Given the description of an element on the screen output the (x, y) to click on. 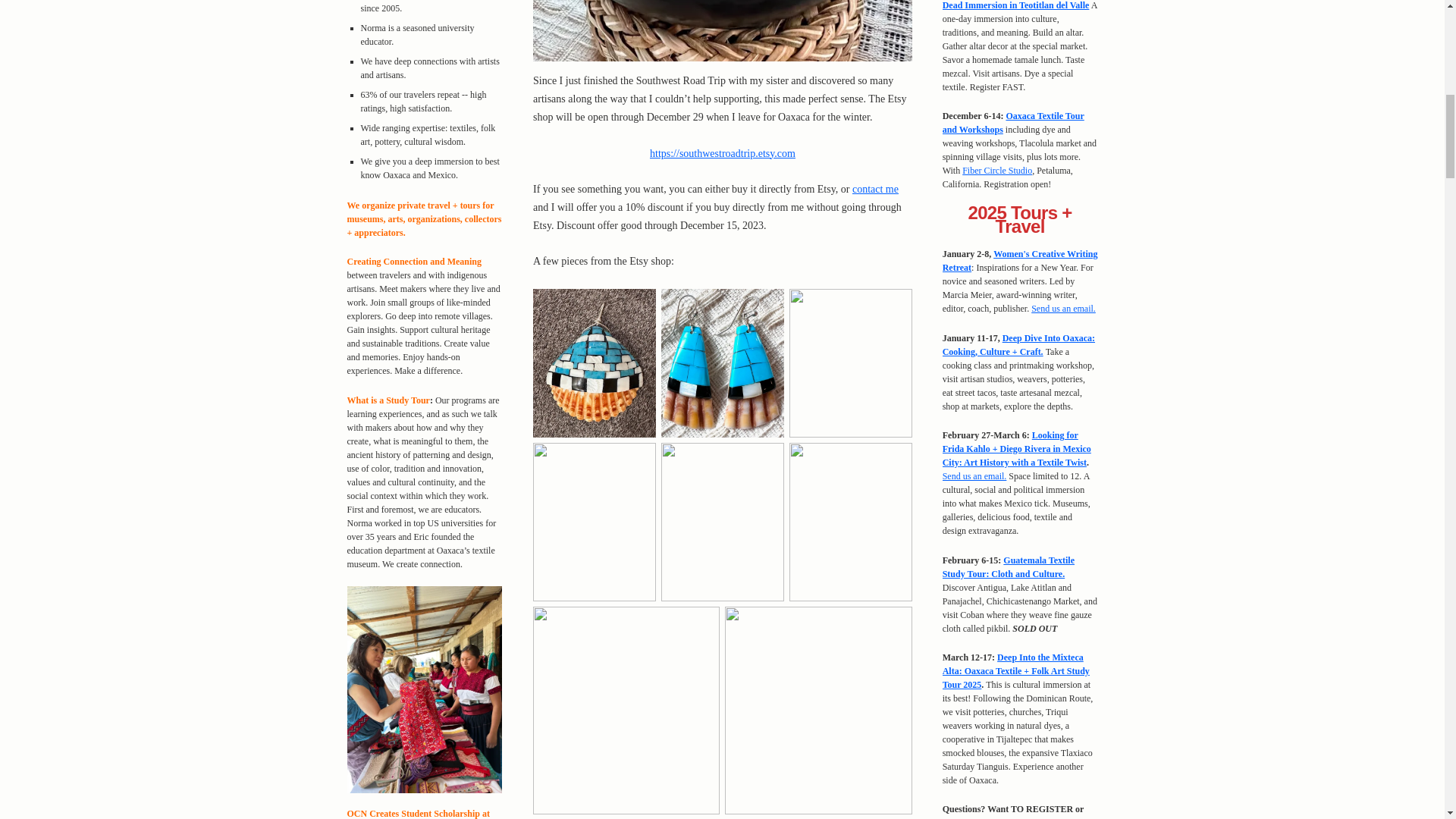
contact me (874, 188)
